Given the description of an element on the screen output the (x, y) to click on. 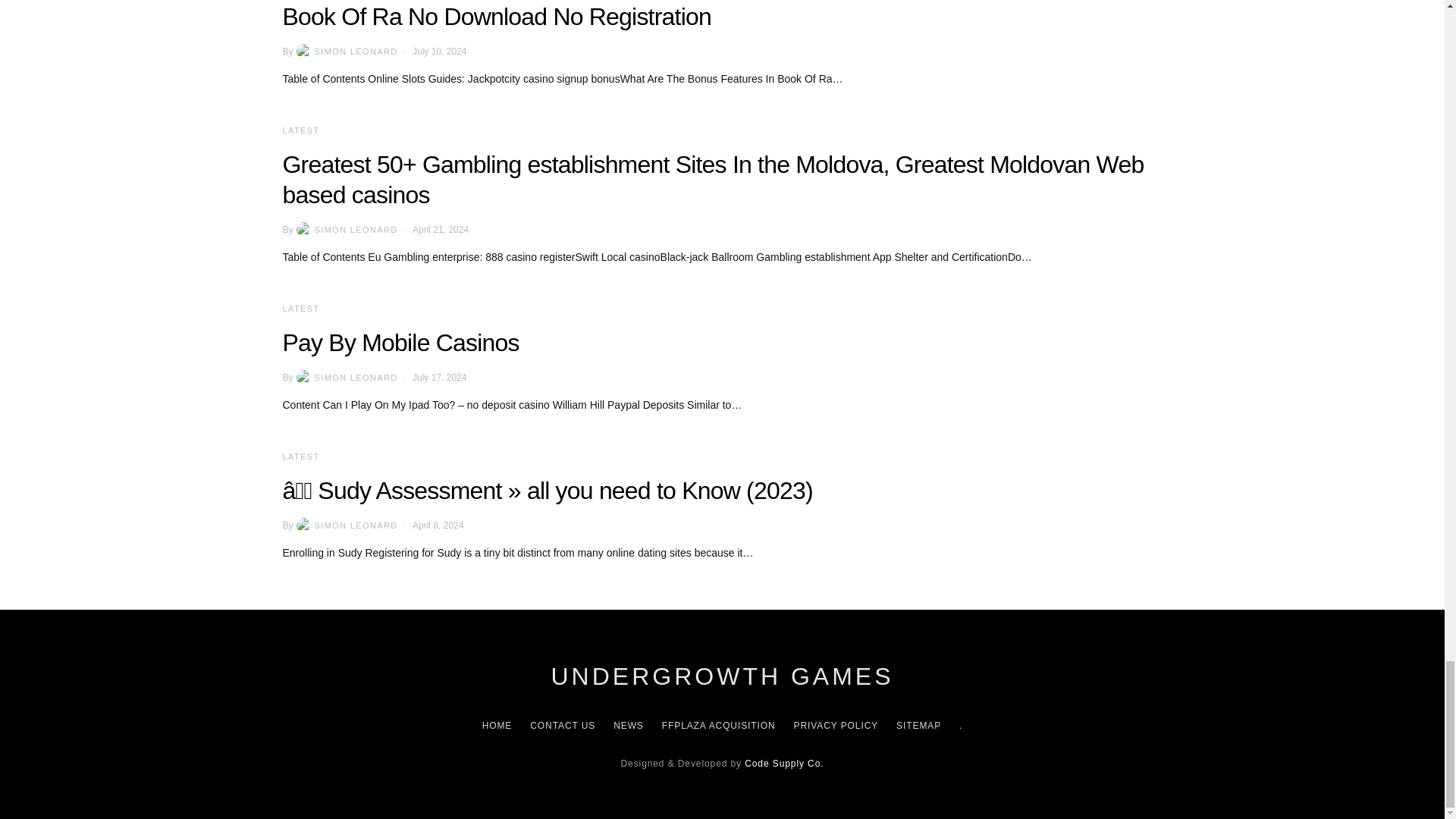
View all posts by Simon Leonard (345, 377)
View all posts by Simon Leonard (345, 51)
View all posts by Simon Leonard (345, 229)
View all posts by Simon Leonard (345, 525)
